Given the description of an element on the screen output the (x, y) to click on. 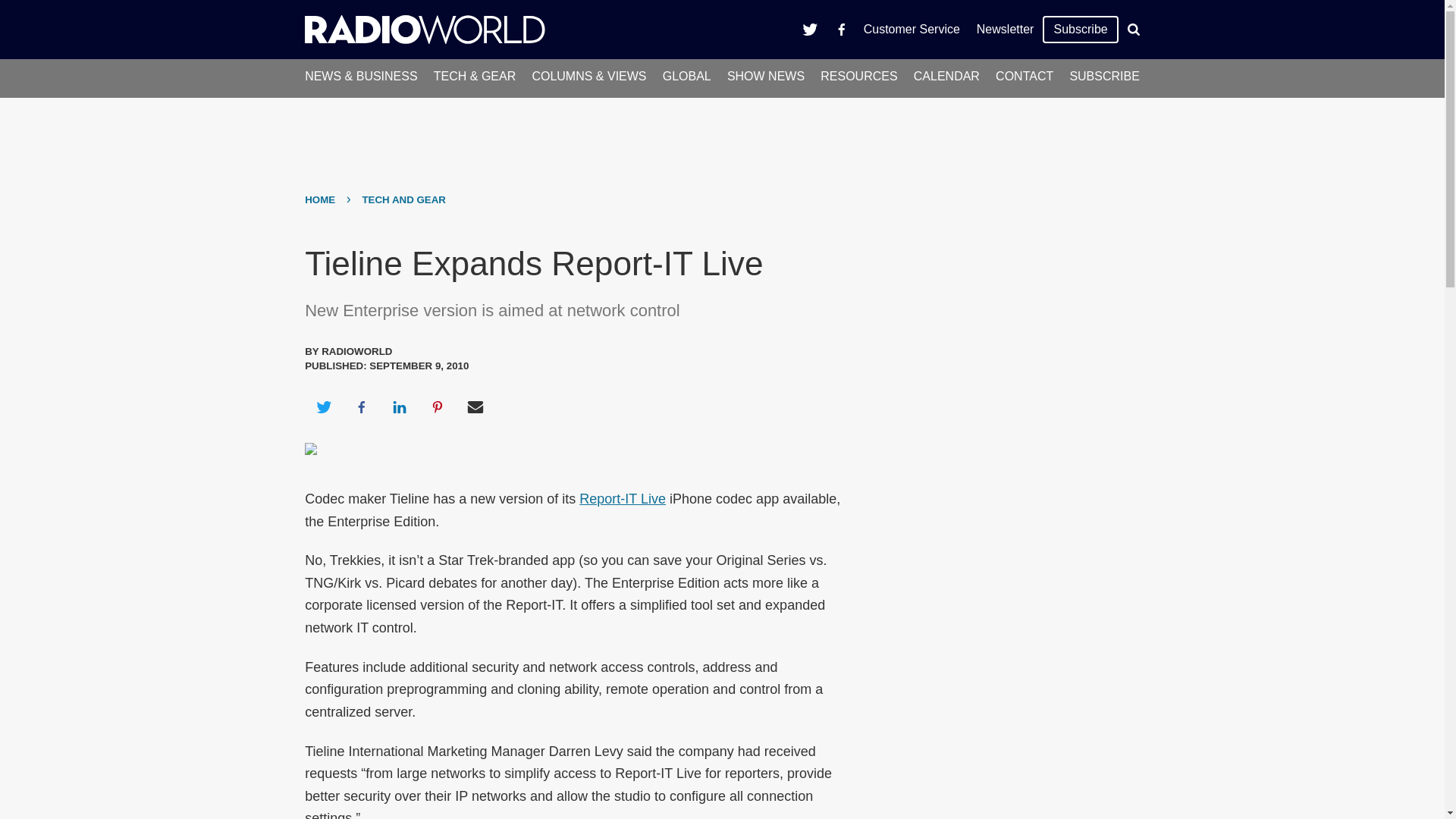
Share on LinkedIn (399, 406)
Share via Email (476, 406)
Customer Service (912, 29)
Share on Facebook (361, 406)
Share on Pinterest (438, 406)
Share on Twitter (323, 406)
